Given the description of an element on the screen output the (x, y) to click on. 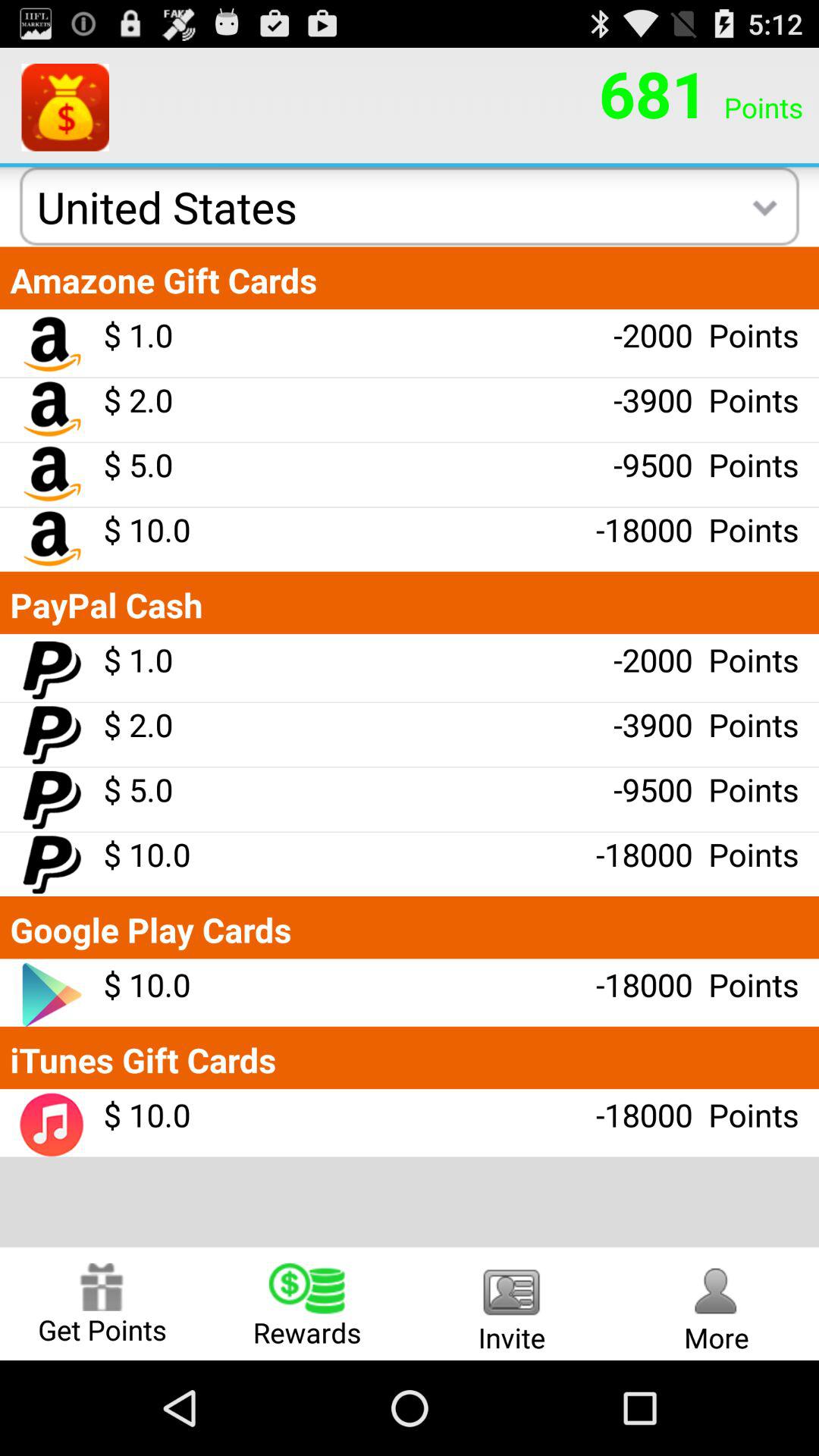
open the more (716, 1303)
